Given the description of an element on the screen output the (x, y) to click on. 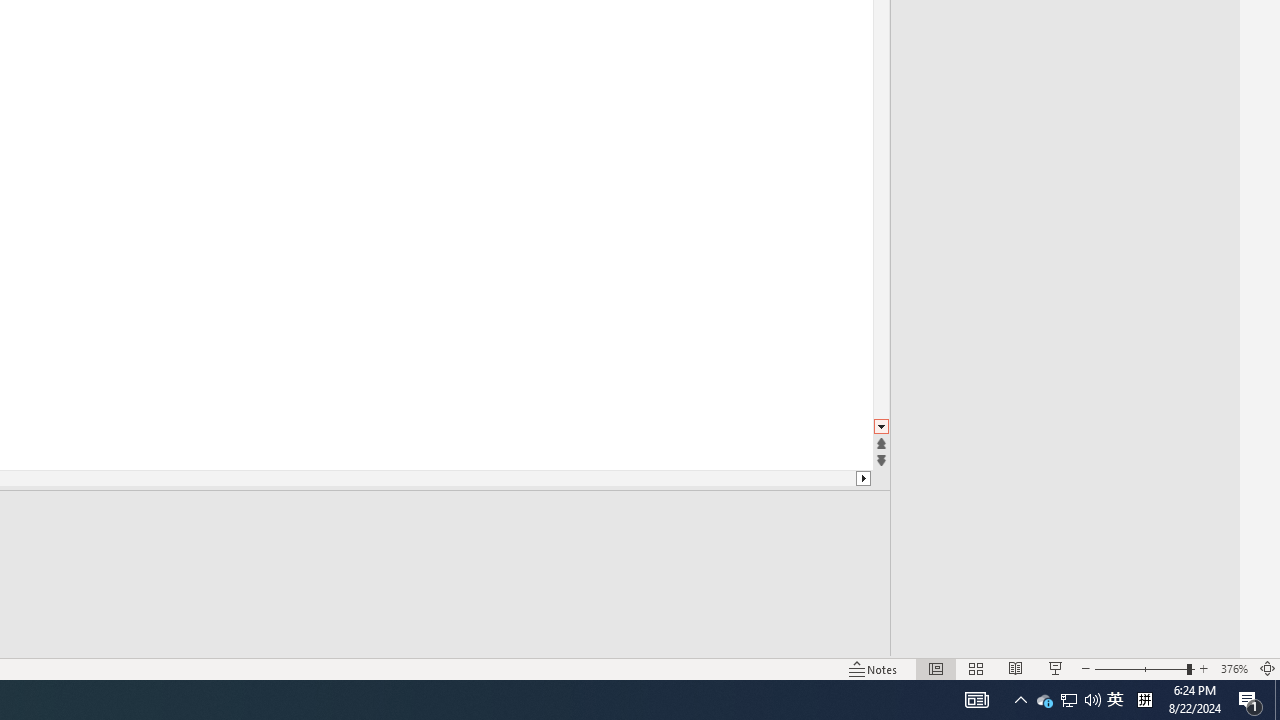
Decrease Text Size (1028, 640)
Increase Text Size (1204, 640)
Text Size (1116, 640)
